Given the description of an element on the screen output the (x, y) to click on. 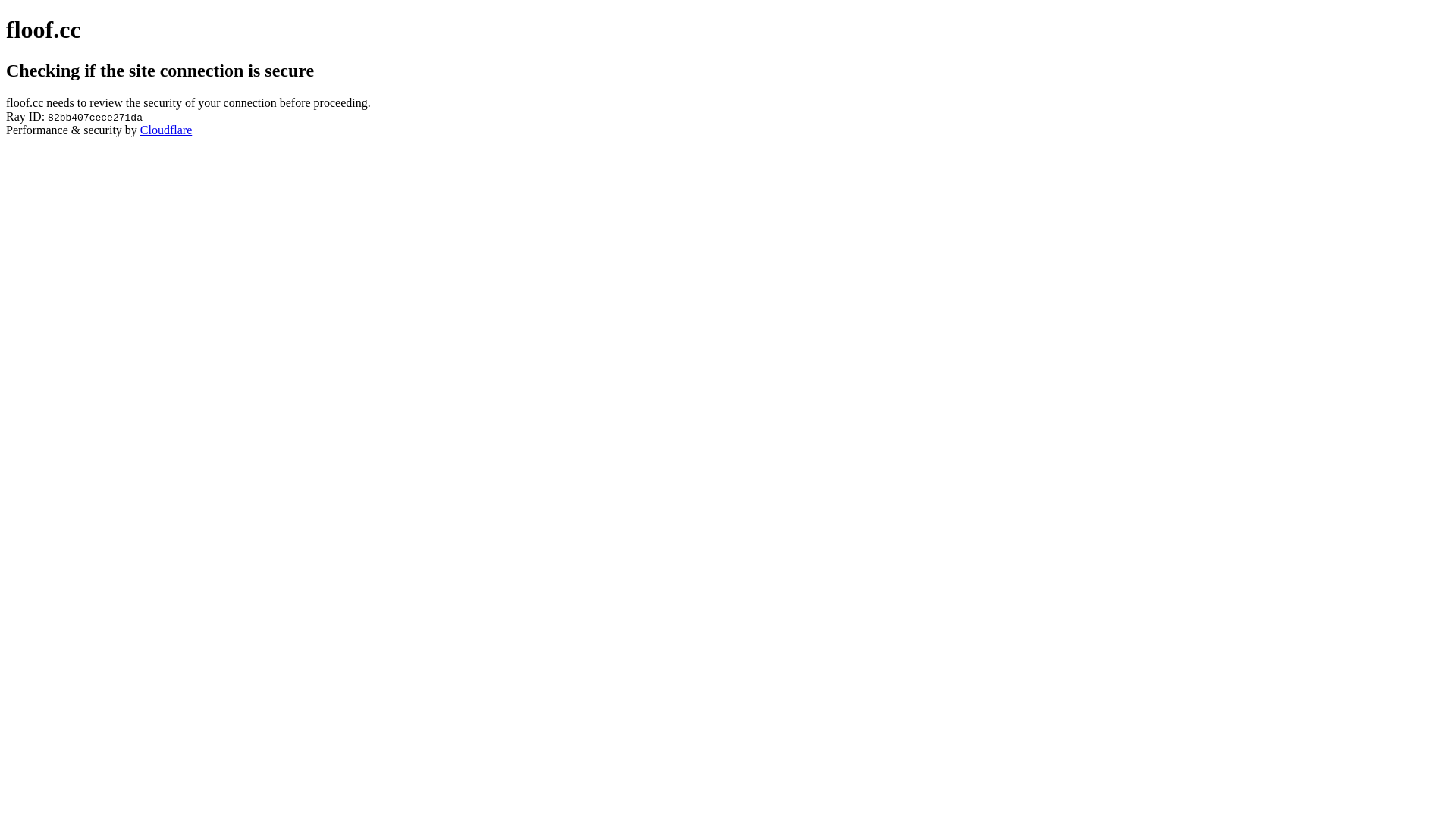
Cloudflare Element type: text (165, 129)
